Given the description of an element on the screen output the (x, y) to click on. 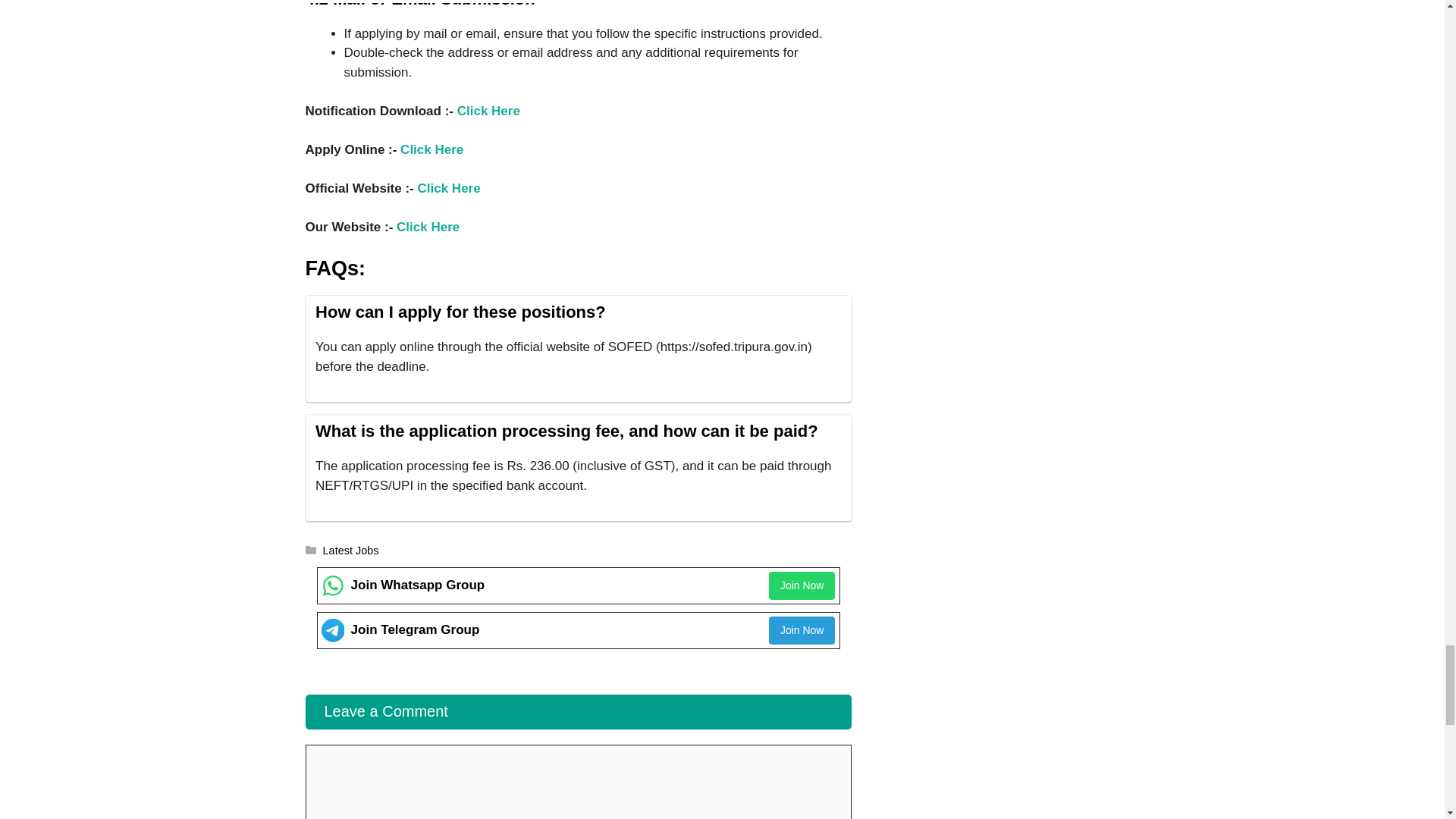
Click Here (431, 149)
Join Now (801, 630)
Click Here (488, 110)
Click Here (428, 227)
Latest Jobs (350, 550)
Join Now (801, 585)
Click Here (448, 187)
